Given the description of an element on the screen output the (x, y) to click on. 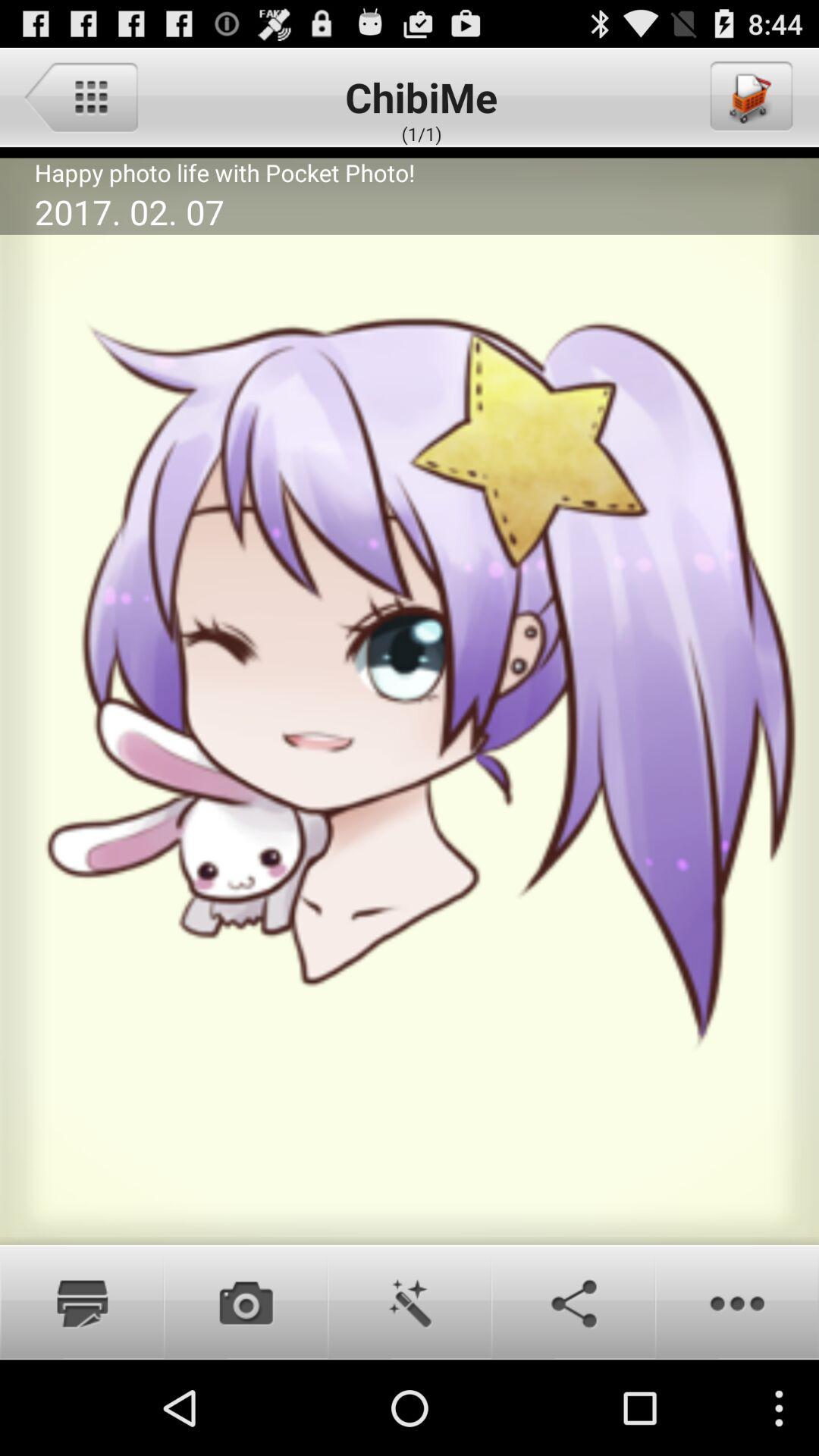
save photo (81, 1301)
